Given the description of an element on the screen output the (x, y) to click on. 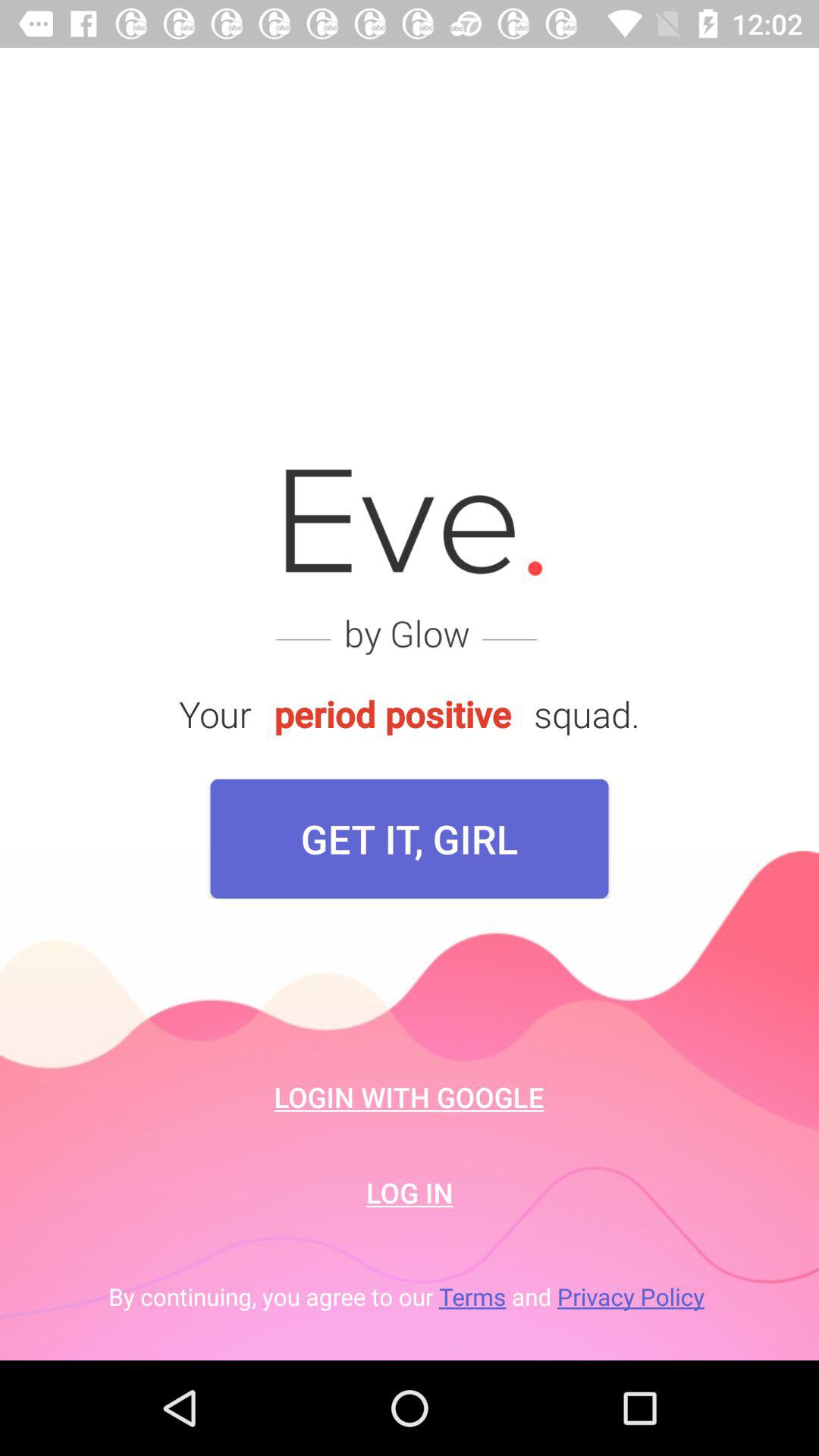
swipe until get it, girl item (409, 838)
